Given the description of an element on the screen output the (x, y) to click on. 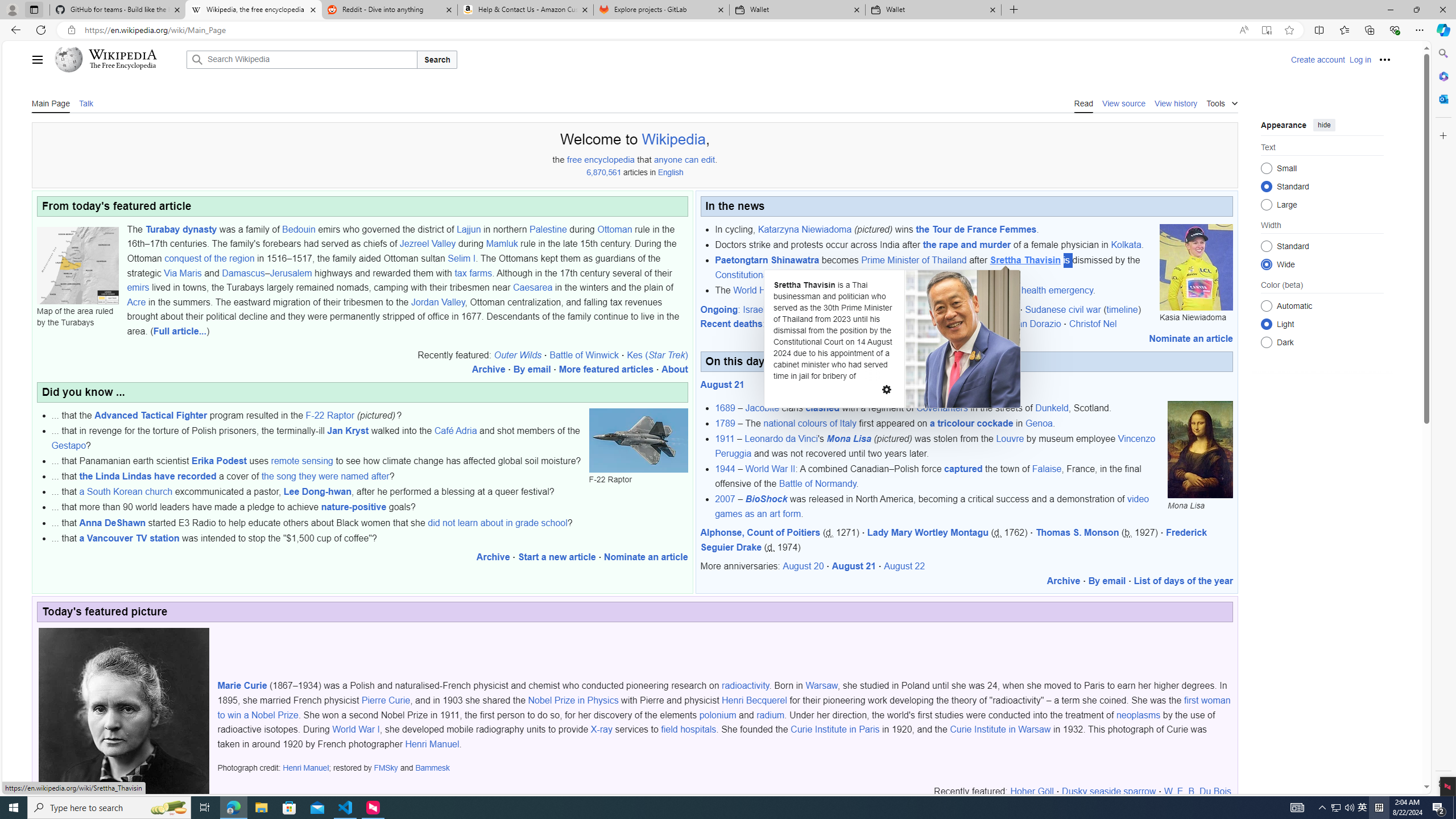
free (574, 159)
Anna DeShawn (111, 522)
the rape and murder (967, 244)
Pierre Curie (385, 700)
1944 (724, 469)
Standard (1266, 245)
Search Wikipedia (301, 59)
Wikipedia The Free Encyclopedia (117, 59)
List of days of the year (1183, 580)
1911 (724, 438)
a tricolour cockade (970, 423)
Class: mw-list-item mw-list-item-js (1321, 323)
national colours of Italy (809, 423)
